Given the description of an element on the screen output the (x, y) to click on. 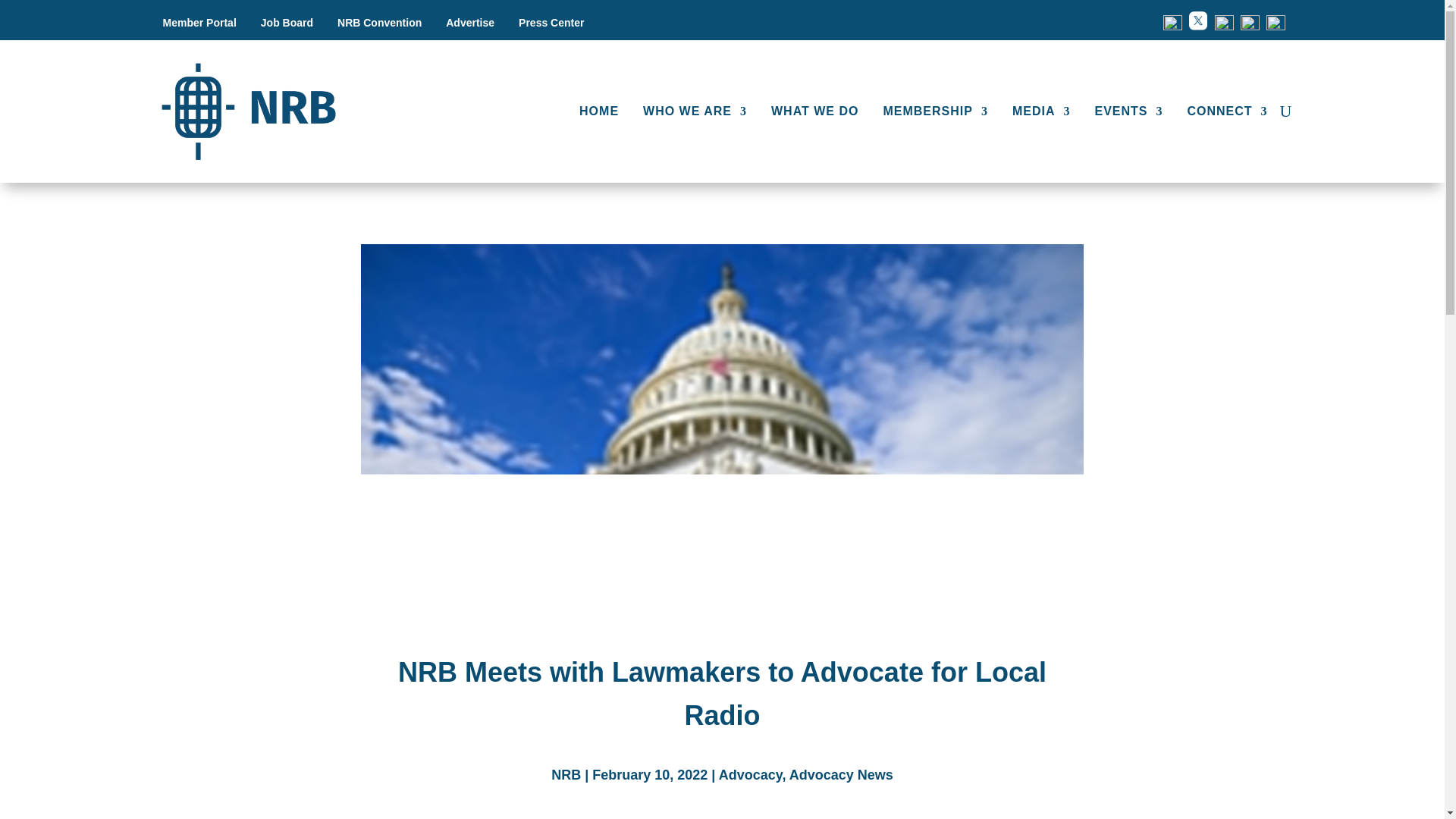
Advertise (470, 25)
Job Board (286, 25)
Press Center (550, 25)
NRB Convention (379, 25)
Member Portal (199, 25)
WHO WE ARE (694, 111)
MEMBERSHIP (934, 111)
